Given the description of an element on the screen output the (x, y) to click on. 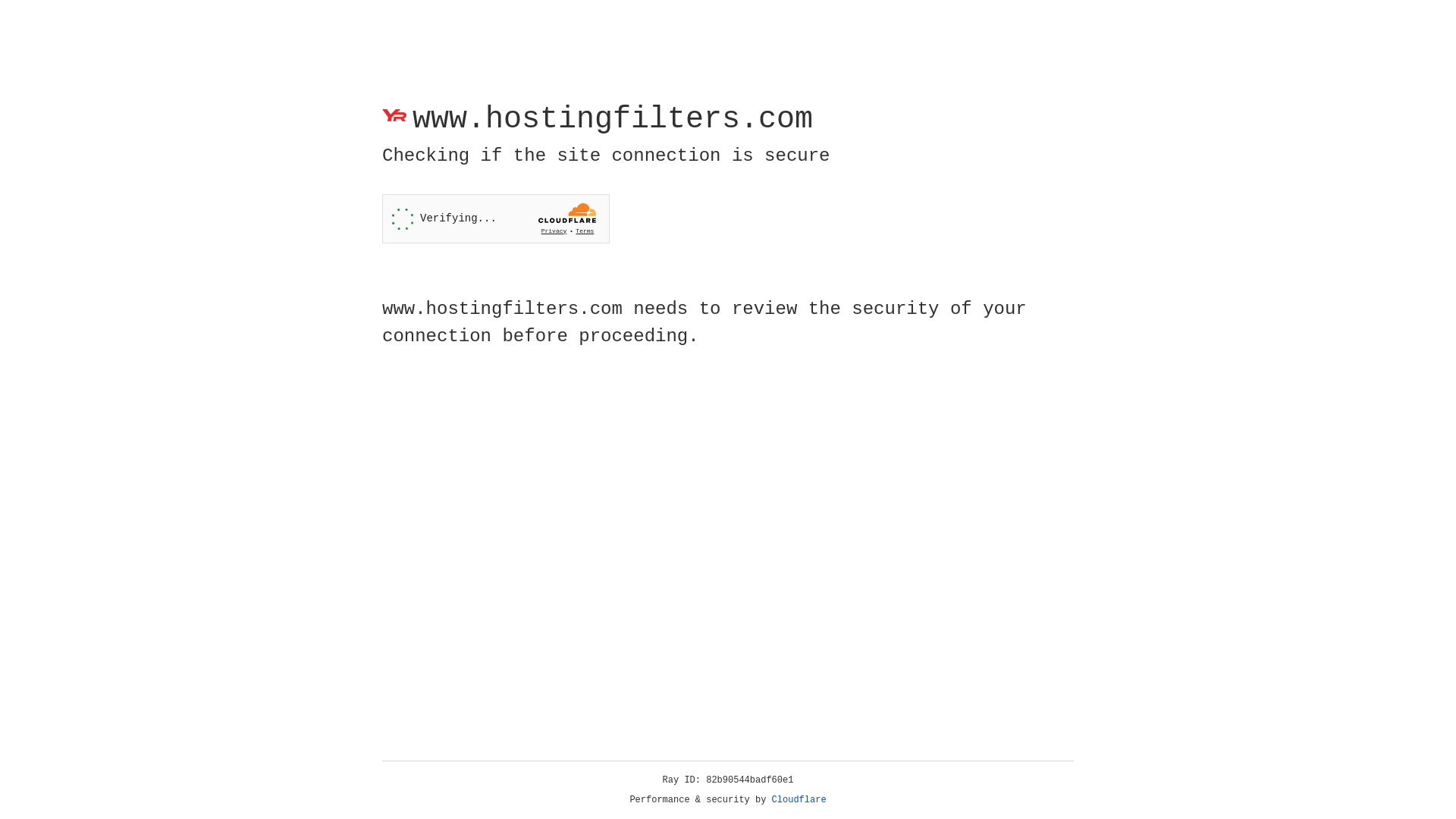
Cloudflare Element type: text (798, 799)
Widget containing a Cloudflare security challenge Element type: hover (495, 218)
